Given the description of an element on the screen output the (x, y) to click on. 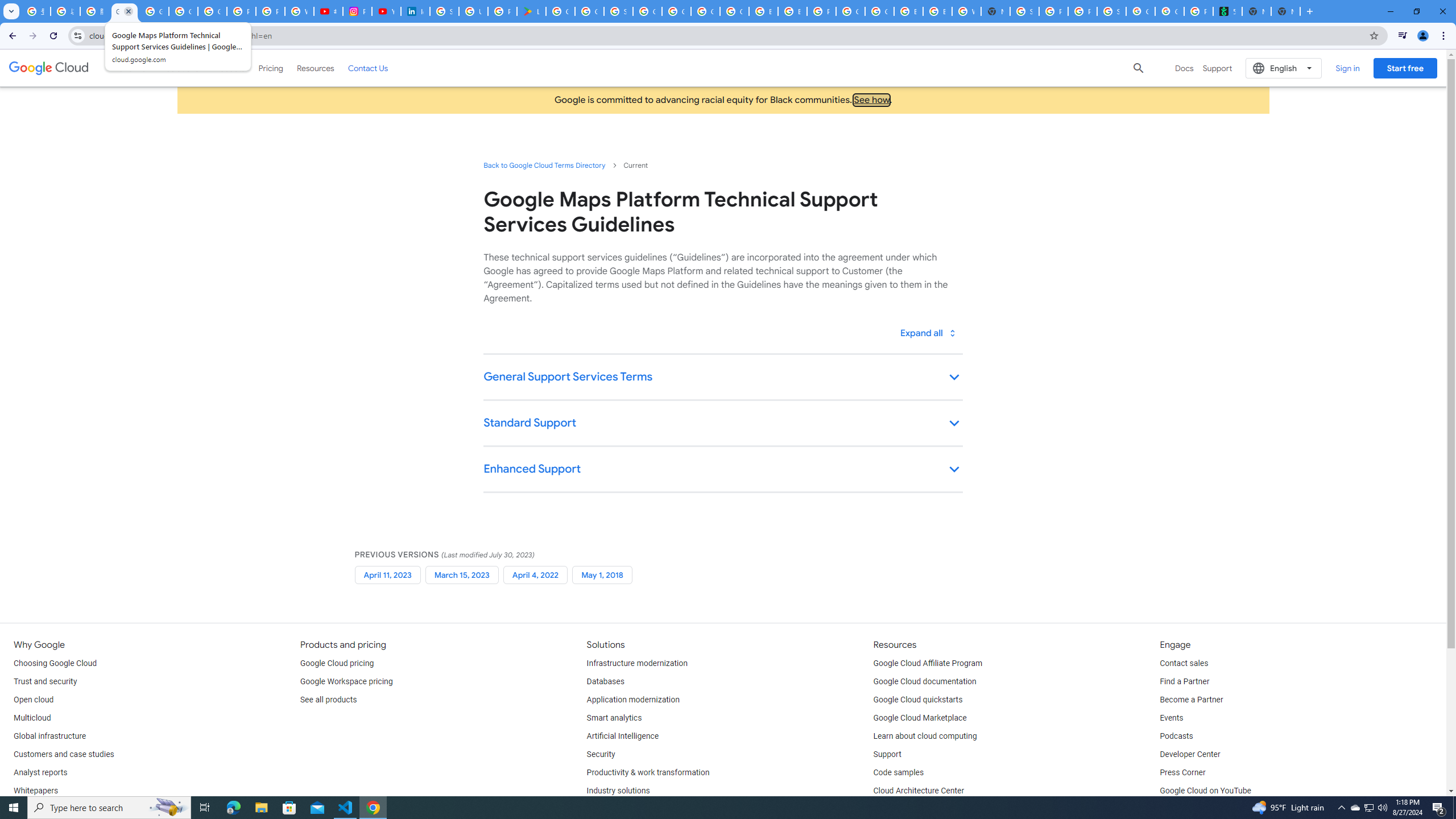
Contact sales (1183, 663)
Browse Chrome as a guest - Computer - Google Chrome Help (763, 11)
New Tab (1285, 11)
Pricing (270, 67)
Multicloud (31, 718)
Application modernization (632, 700)
Global infrastructure (49, 736)
Enhanced Support keyboard_arrow_down (722, 470)
